Given the description of an element on the screen output the (x, y) to click on. 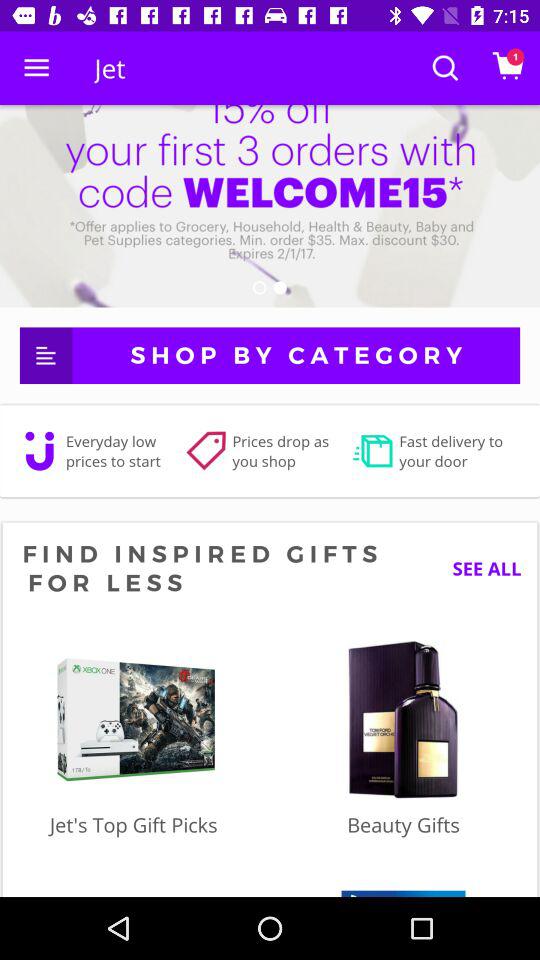
click the see all item (479, 568)
